Given the description of an element on the screen output the (x, y) to click on. 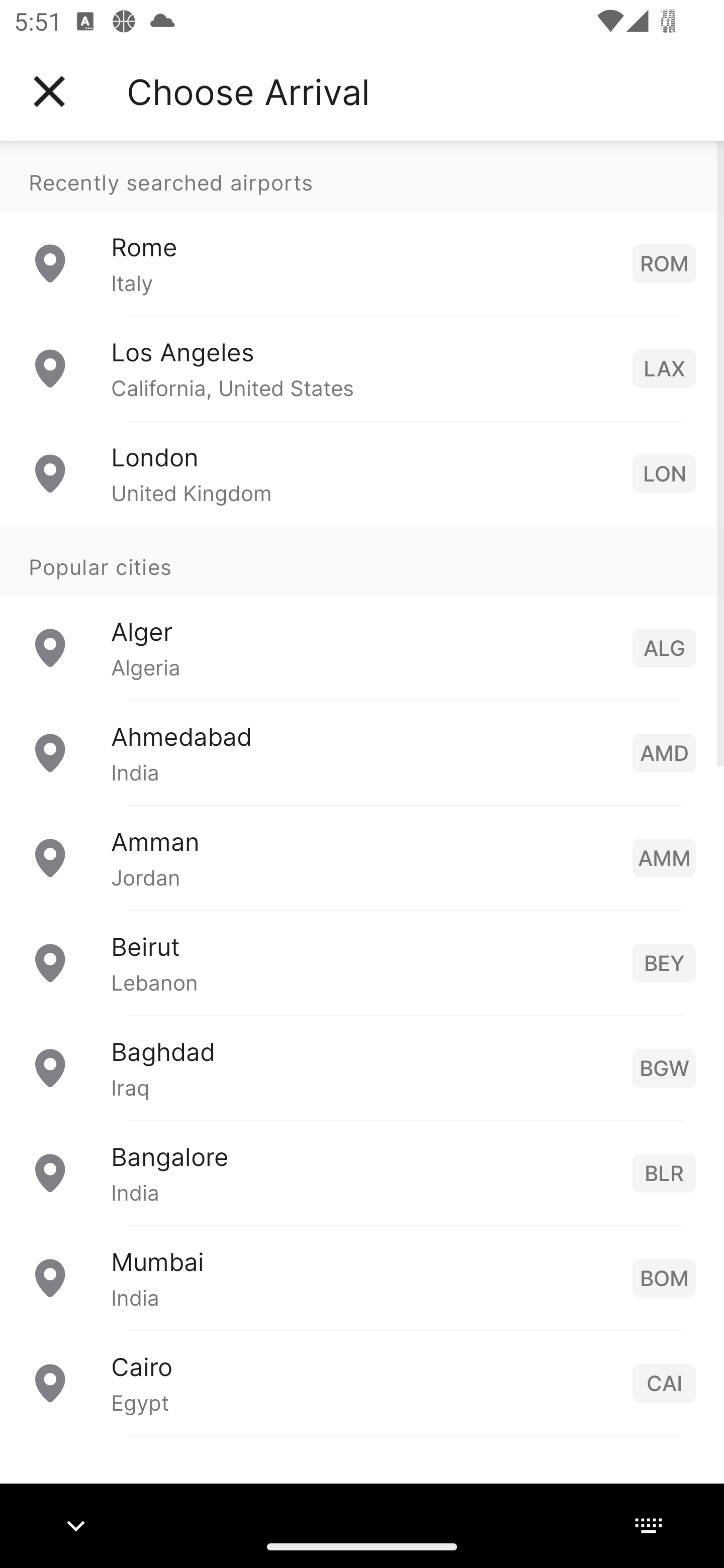
Choose Arrival (247, 91)
Recently searched airports Rome Italy ROM (362, 228)
Recently searched airports (362, 176)
Los Angeles California, United States LAX (362, 367)
London United Kingdom LON (362, 472)
Popular cities Alger Algeria ALG (362, 612)
Popular cities (362, 560)
Ahmedabad India AMD (362, 751)
Amman Jordan AMM (362, 856)
Beirut Lebanon BEY (362, 961)
Baghdad Iraq BGW (362, 1066)
Bangalore India BLR (362, 1171)
Mumbai India BOM (362, 1276)
Cairo Egypt CAI (362, 1381)
